Given the description of an element on the screen output the (x, y) to click on. 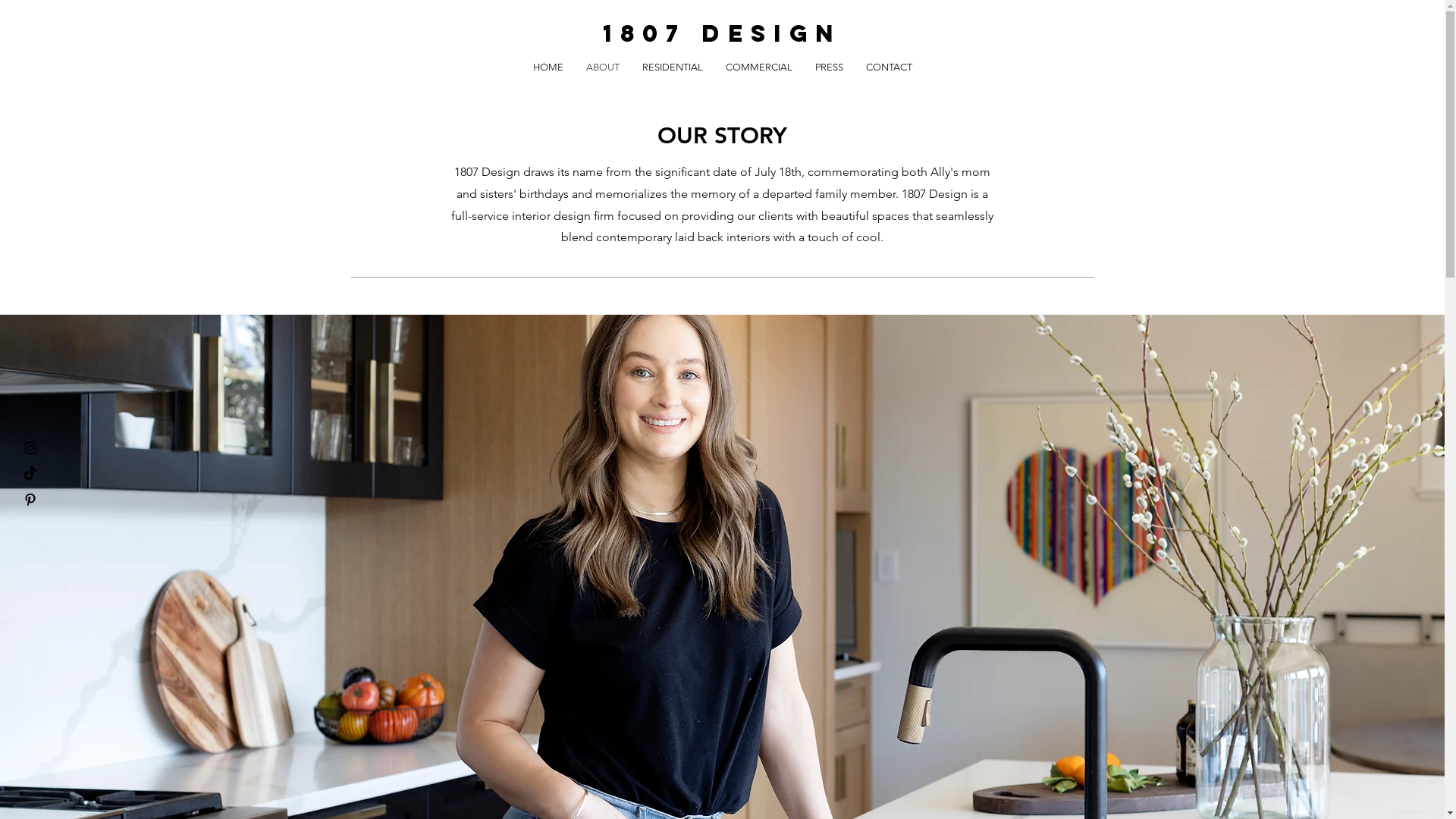
CONTACT Element type: text (887, 66)
RESIDENTIAL Element type: text (672, 66)
PRESS Element type: text (828, 66)
COMMERCIAL Element type: text (758, 66)
HOME Element type: text (547, 66)
1807 design Element type: text (721, 32)
ABOUT Element type: text (602, 66)
